Given the description of an element on the screen output the (x, y) to click on. 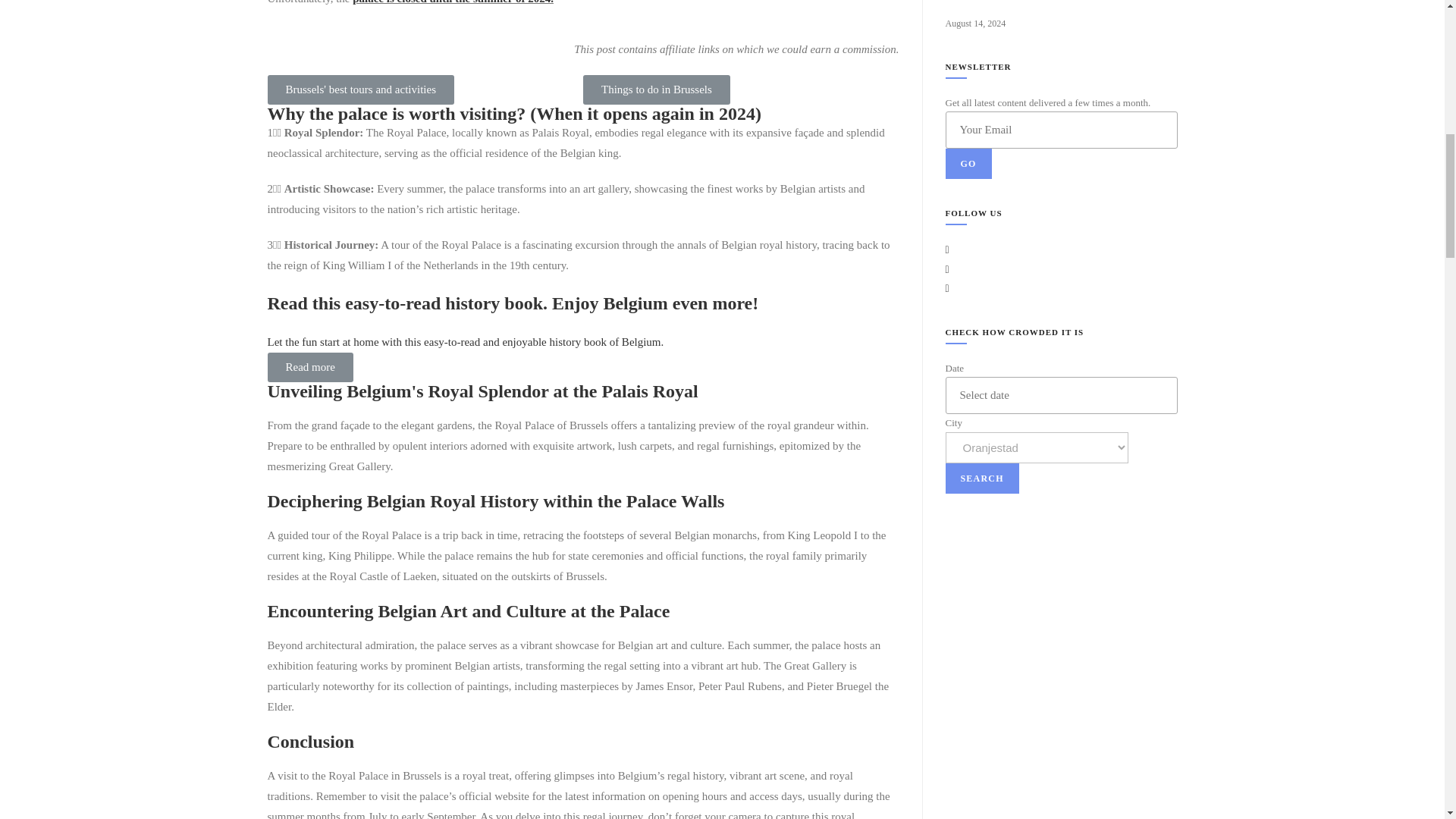
Brussels' best tours and activities (360, 89)
palace is closed until the summer of 2024. (452, 2)
Things to do in Brussels (656, 89)
